Given the description of an element on the screen output the (x, y) to click on. 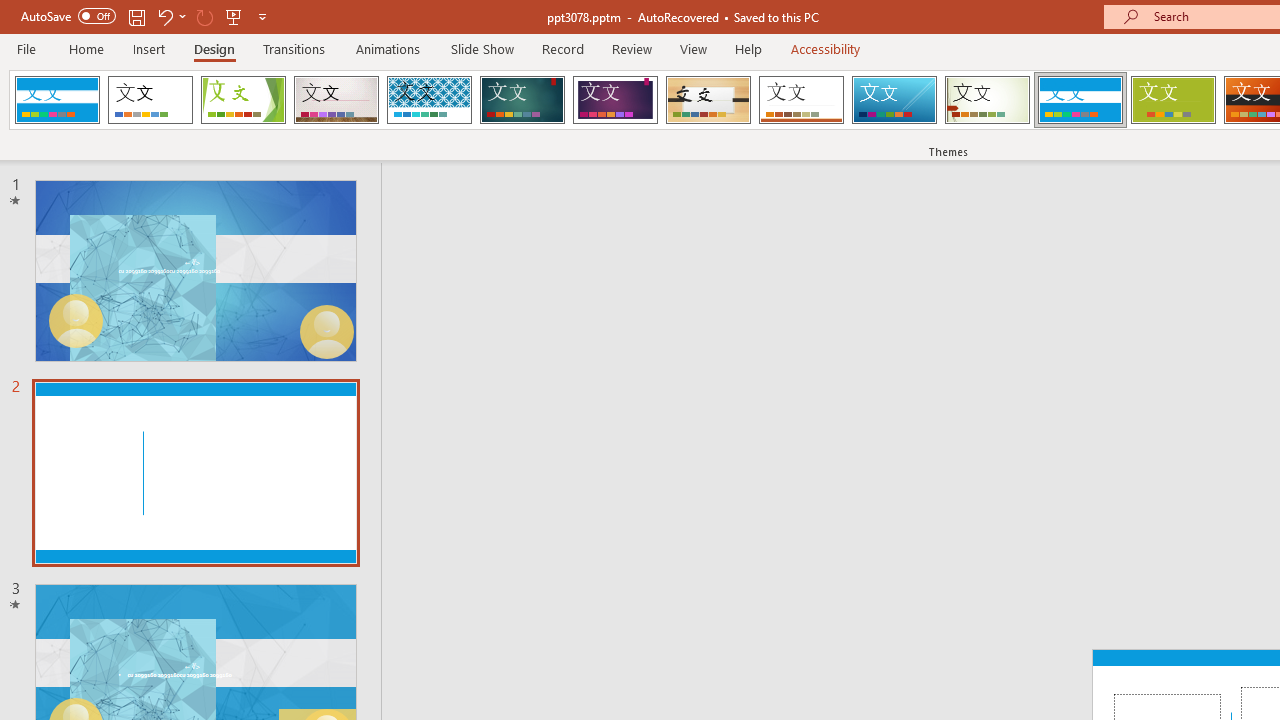
Banded (1080, 100)
Ion Boardroom (615, 100)
Slice (893, 100)
Organic (708, 100)
Retrospect (801, 100)
